Given the description of an element on the screen output the (x, y) to click on. 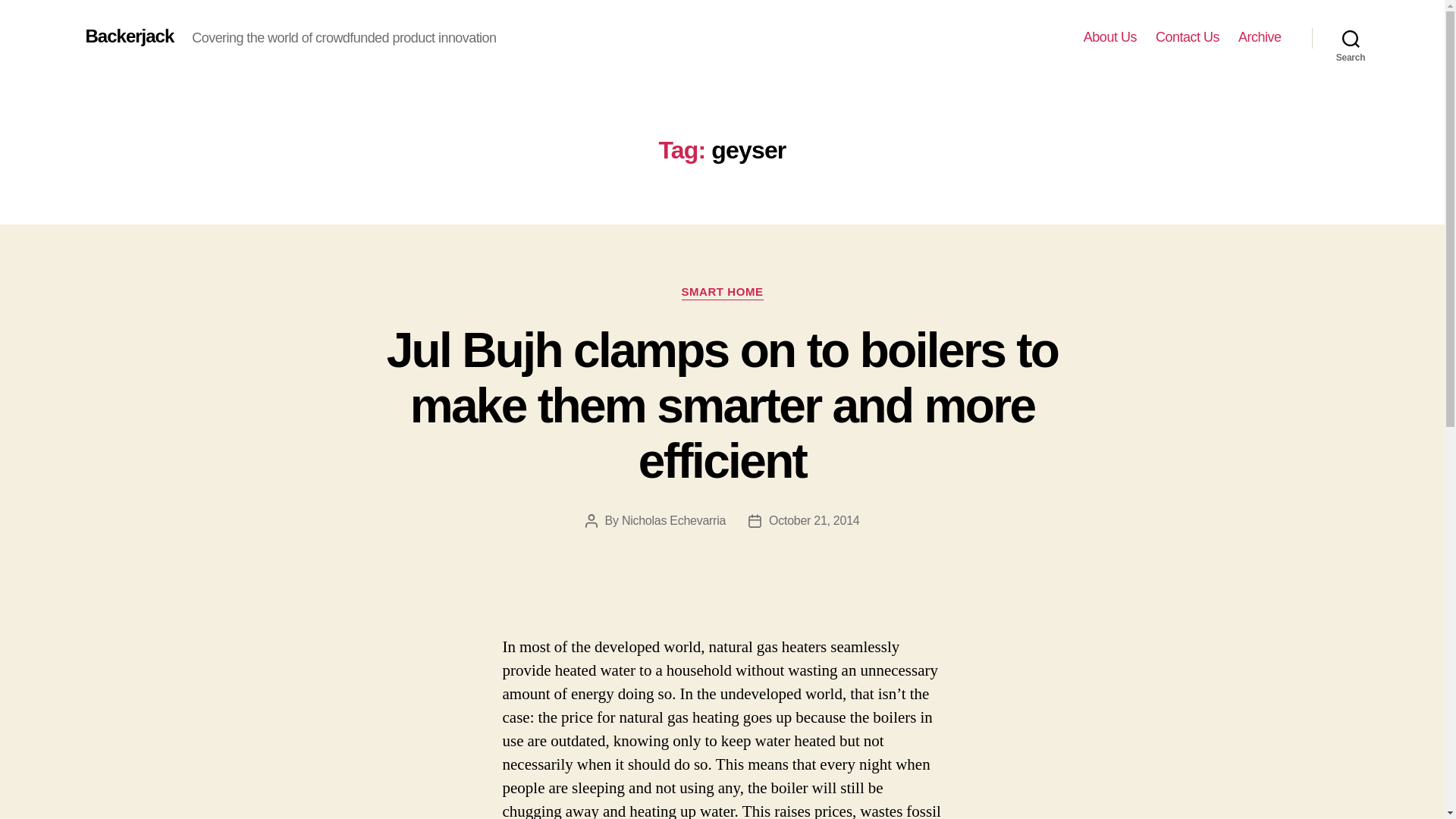
October 21, 2014 (813, 520)
Nicholas Echevarria (673, 520)
SMART HOME (721, 292)
About Us (1110, 37)
Backerjack (128, 36)
Contact Us (1188, 37)
Archive (1260, 37)
Search (1350, 37)
